Given the description of an element on the screen output the (x, y) to click on. 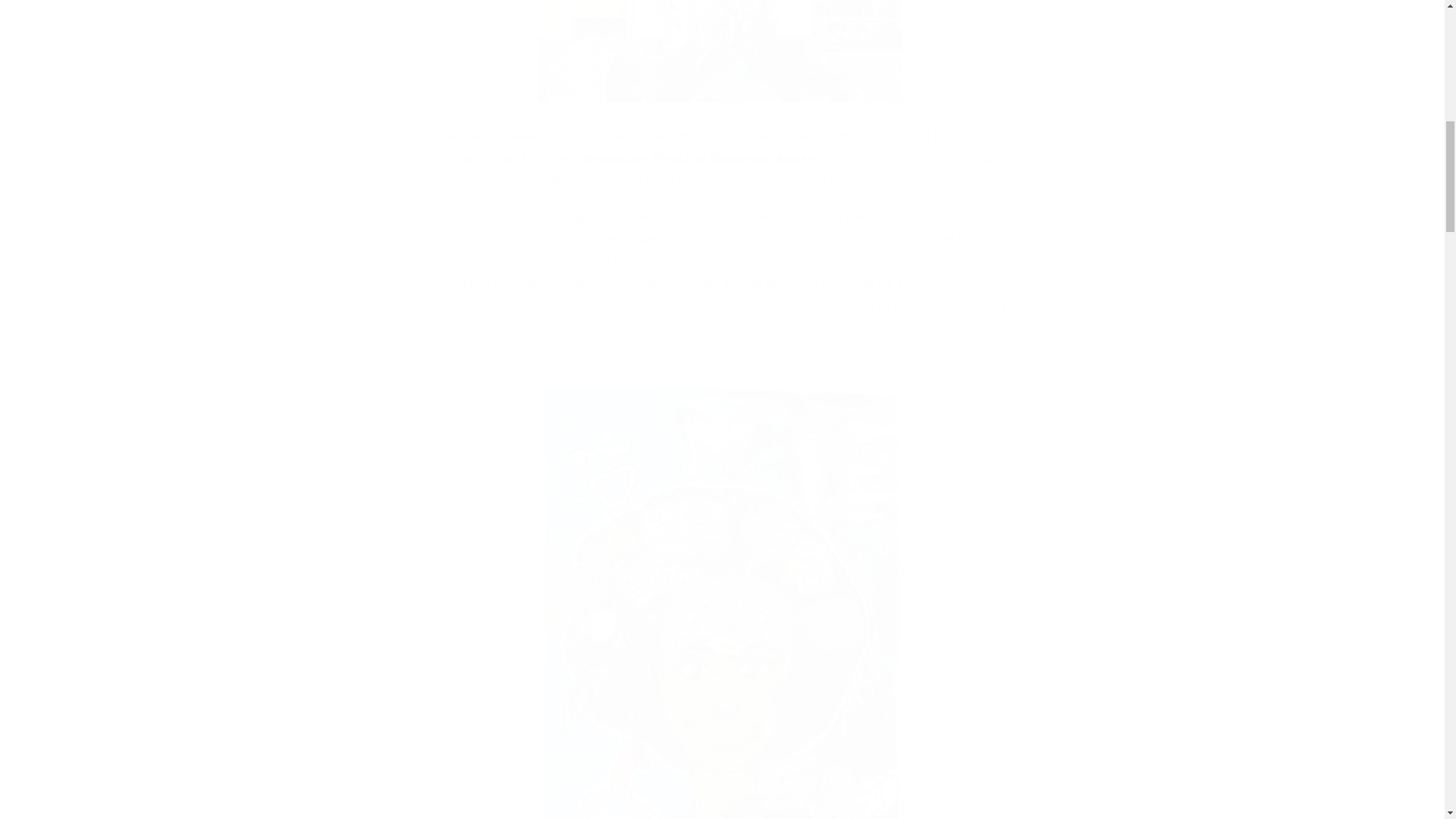
"Perception" (899, 260)
